Given the description of an element on the screen output the (x, y) to click on. 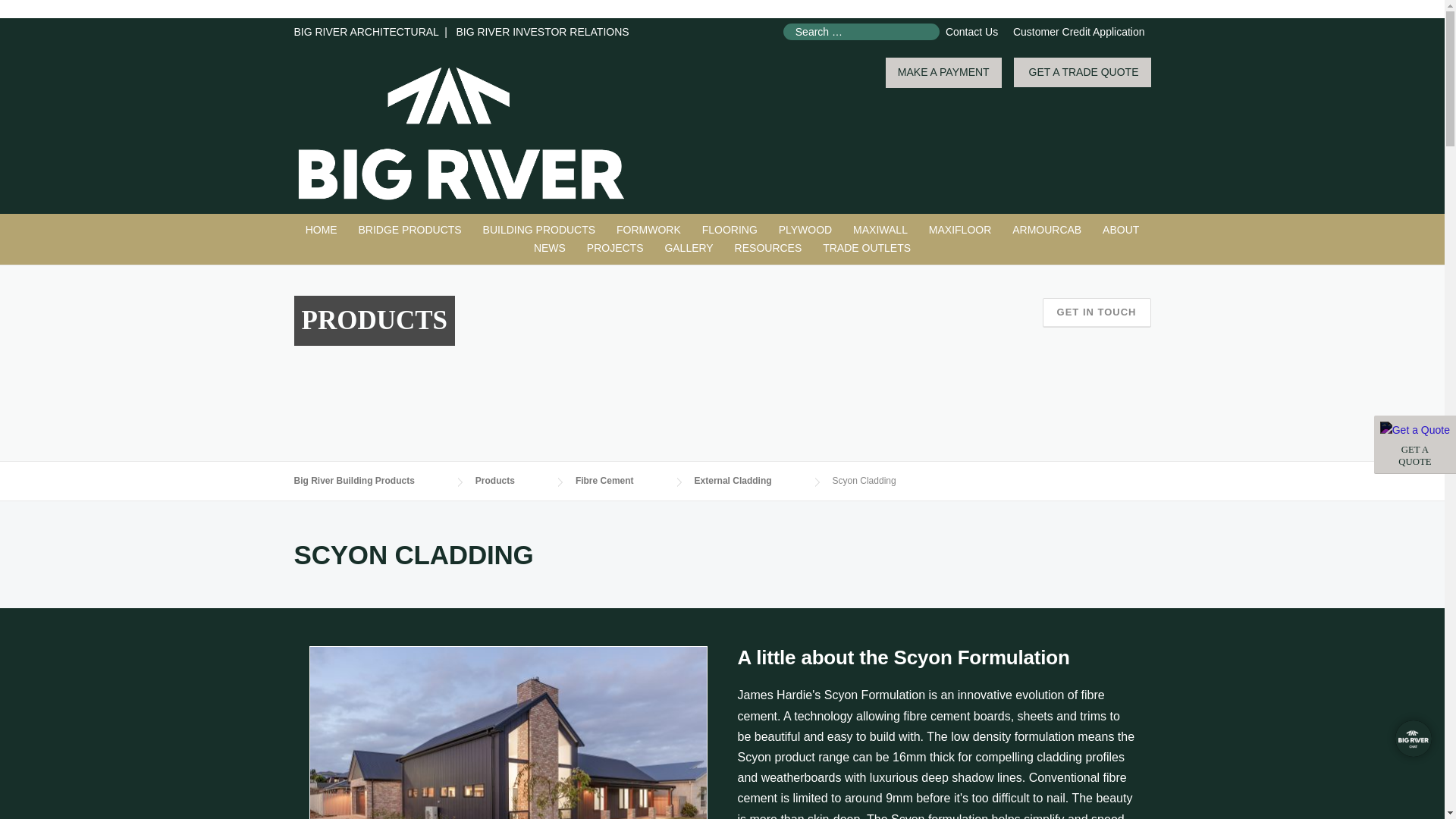
  Contact Us   (971, 31)
Gallery (688, 248)
About Us (1120, 230)
BUILDING PRODUCTS (539, 230)
Go to Big River Building Products. (369, 480)
BIG RIVER INVESTOR RELATIONS (541, 31)
Home (321, 230)
Search (40, 13)
Go to Products. (510, 480)
MAKE A PAYMENT (1415, 444)
BIG RIVER ARCHITECTURAL (943, 72)
BRIDGE PRODUCTS (366, 31)
Skip to content (409, 230)
GET A TRADE QUOTE (34, 27)
